Given the description of an element on the screen output the (x, y) to click on. 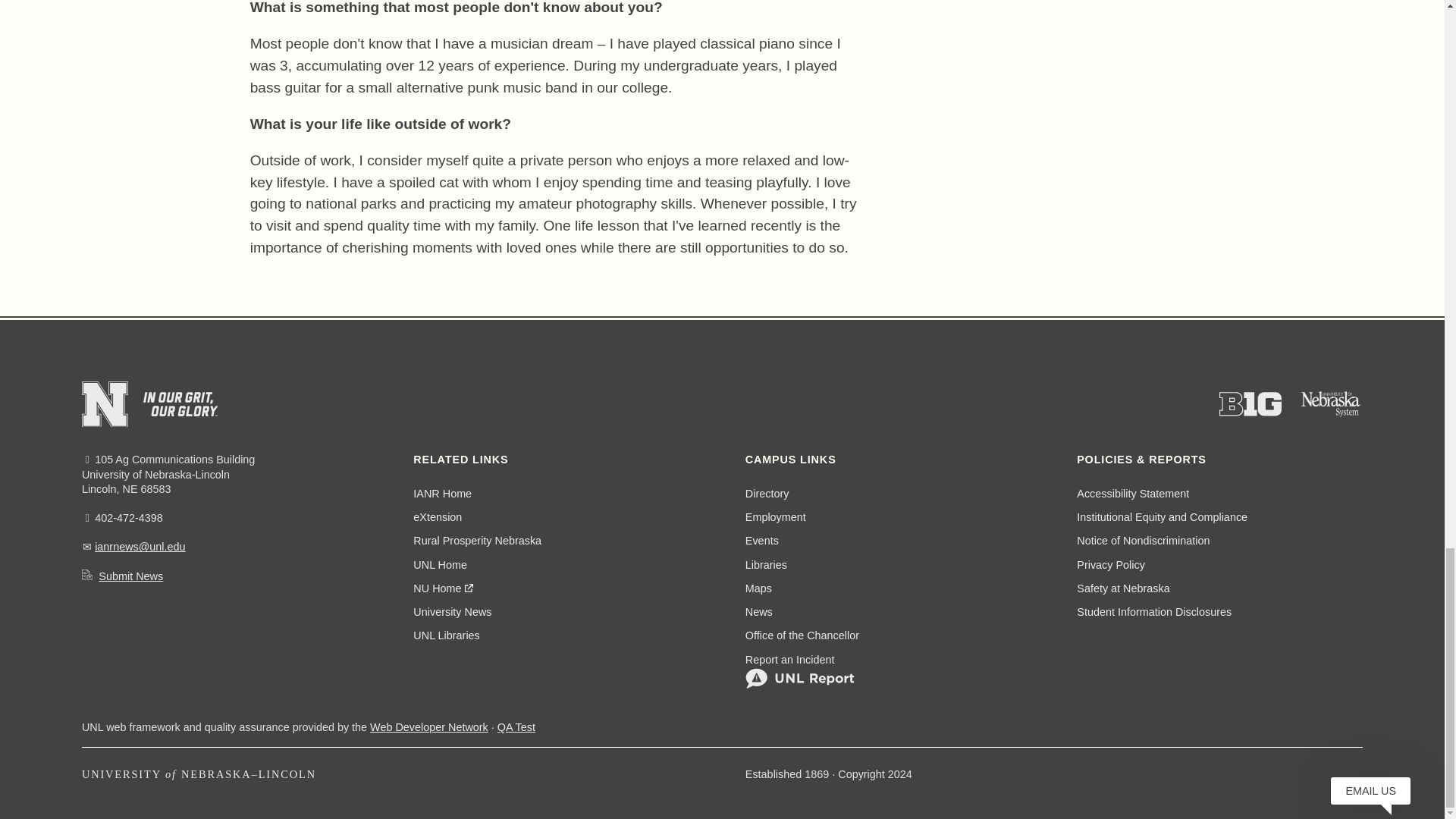
UNL Home (440, 564)
NU Home (443, 588)
University News (452, 612)
UNL Libraries (446, 635)
IANR Home (442, 494)
Rural Prosperity Nebraska (477, 540)
eXtension (437, 517)
IANR (442, 494)
Submit News (131, 576)
